Given the description of an element on the screen output the (x, y) to click on. 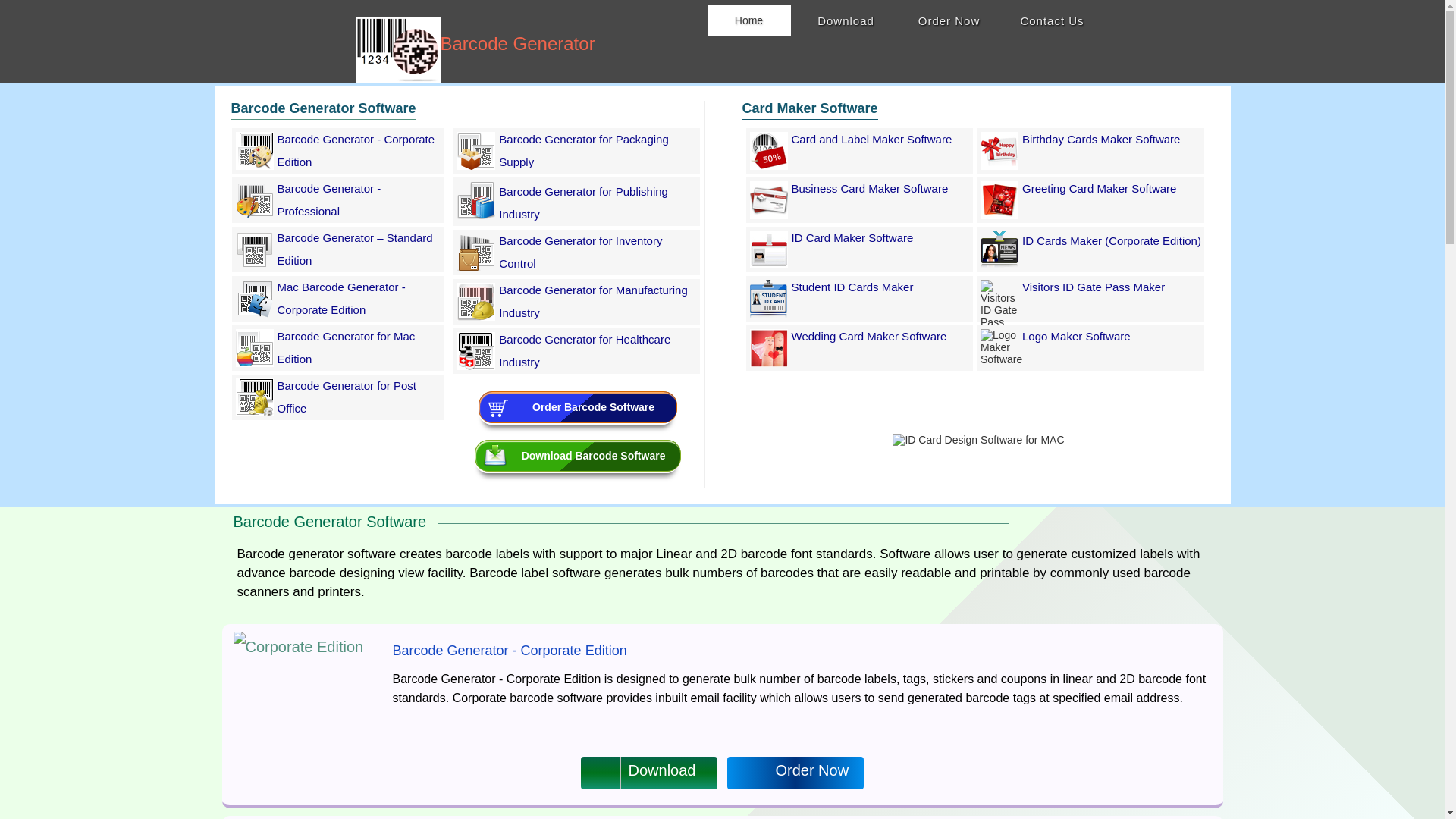
Barcode Generator (516, 46)
Barcode Generator - Corporate Edition (253, 165)
Mac Barcode Generator - Corporate Edition (342, 298)
Barcode Generator (516, 46)
Barcode Generator for Inventory Control (580, 252)
Barcode Generator for Publishing Industry (583, 202)
Download (845, 20)
Download (845, 20)
Barcode Generator for Post Office (347, 397)
Home (748, 20)
